Given the description of an element on the screen output the (x, y) to click on. 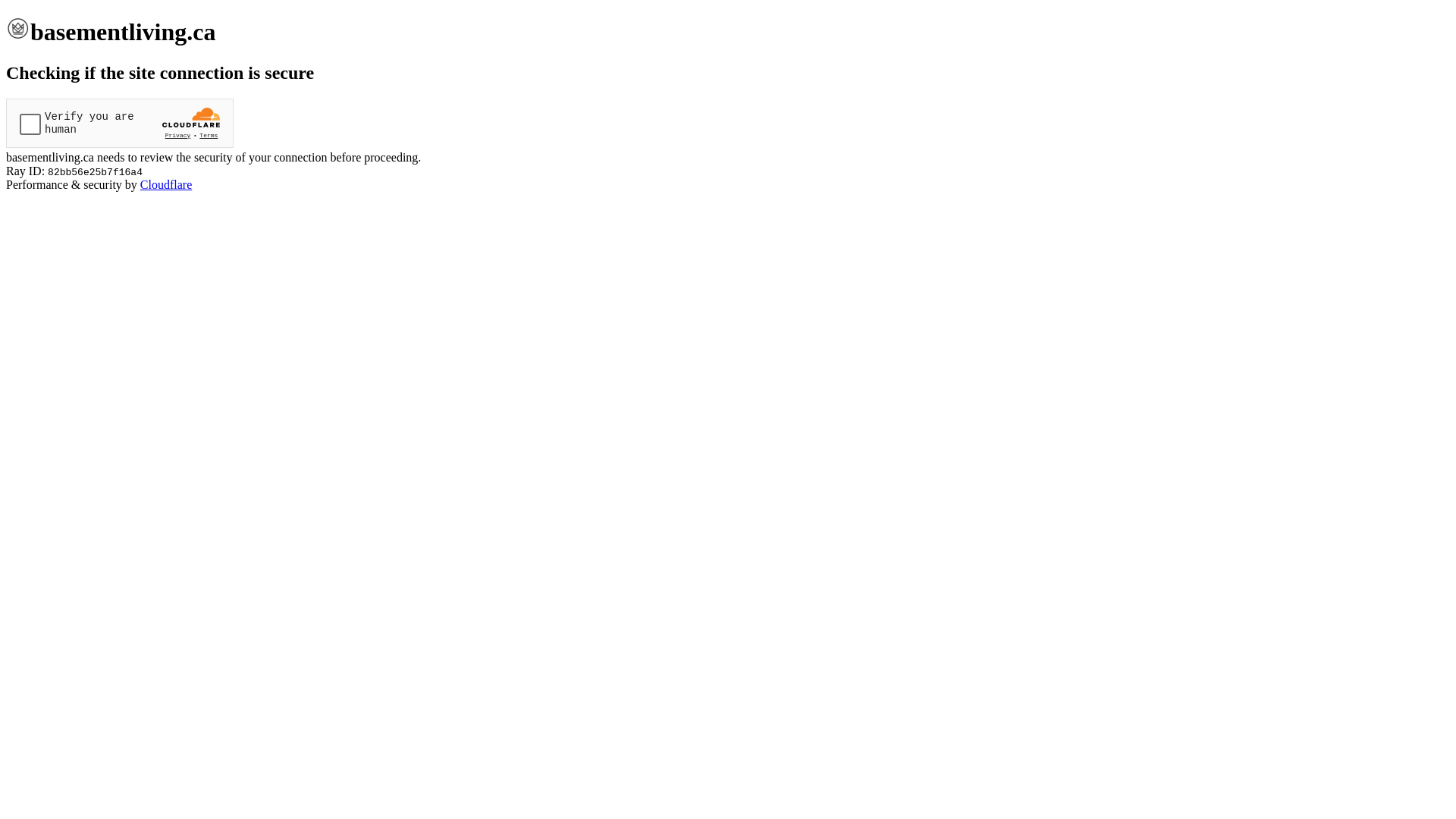
Widget containing a Cloudflare security challenge Element type: hover (119, 122)
Cloudflare Element type: text (165, 184)
